Given the description of an element on the screen output the (x, y) to click on. 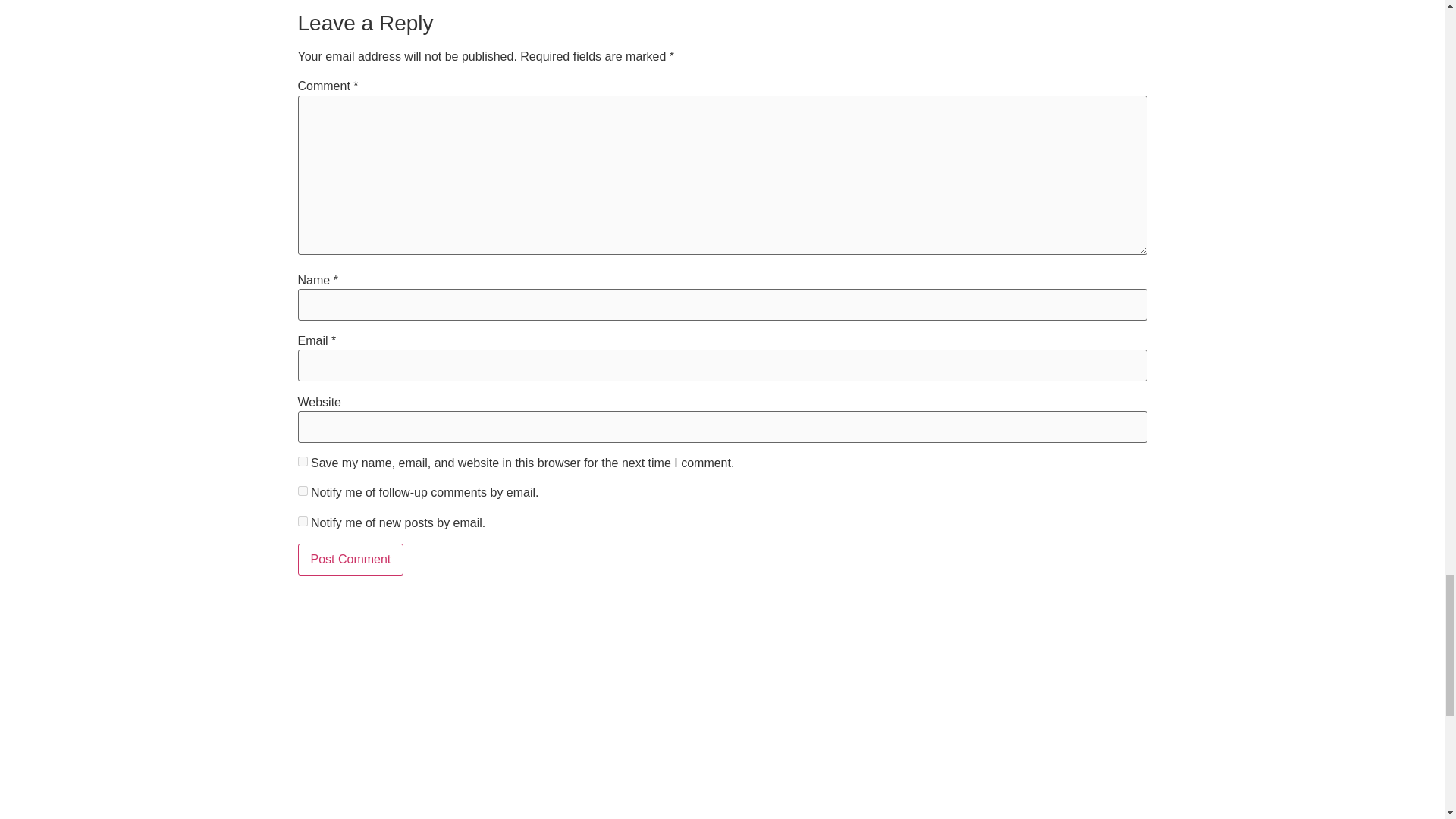
subscribe (302, 491)
subscribe (302, 521)
yes (302, 461)
Post Comment (350, 559)
